Given the description of an element on the screen output the (x, y) to click on. 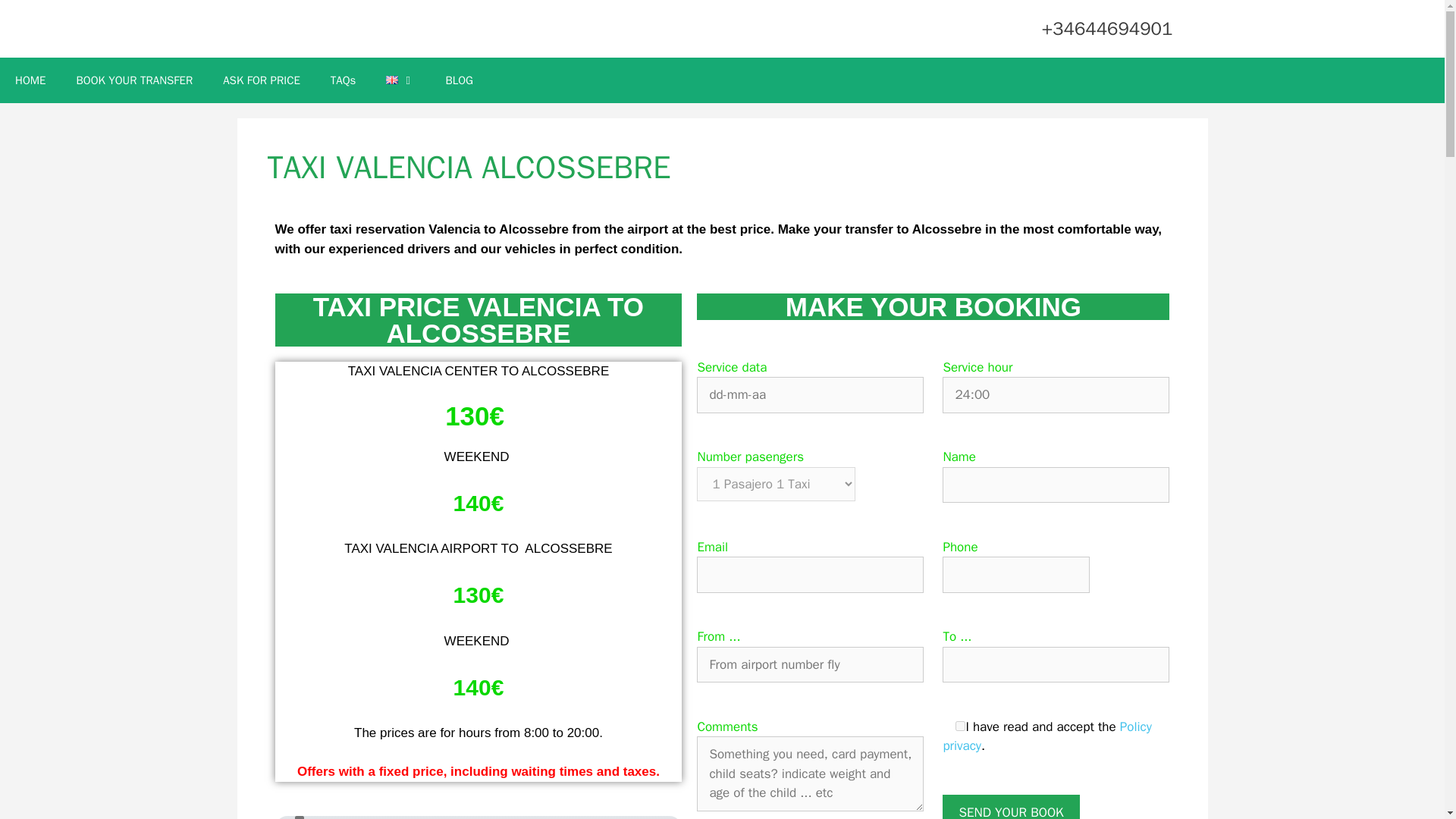
SEND YOUR BOOK (1010, 806)
TAQs (343, 80)
SEND YOUR BOOK (1010, 806)
HOME (30, 80)
BOOK YOUR TRANSFER (134, 80)
BLOG (458, 80)
1 (960, 726)
Policy privacy (1046, 736)
ASK FOR PRICE (261, 80)
